Given the description of an element on the screen output the (x, y) to click on. 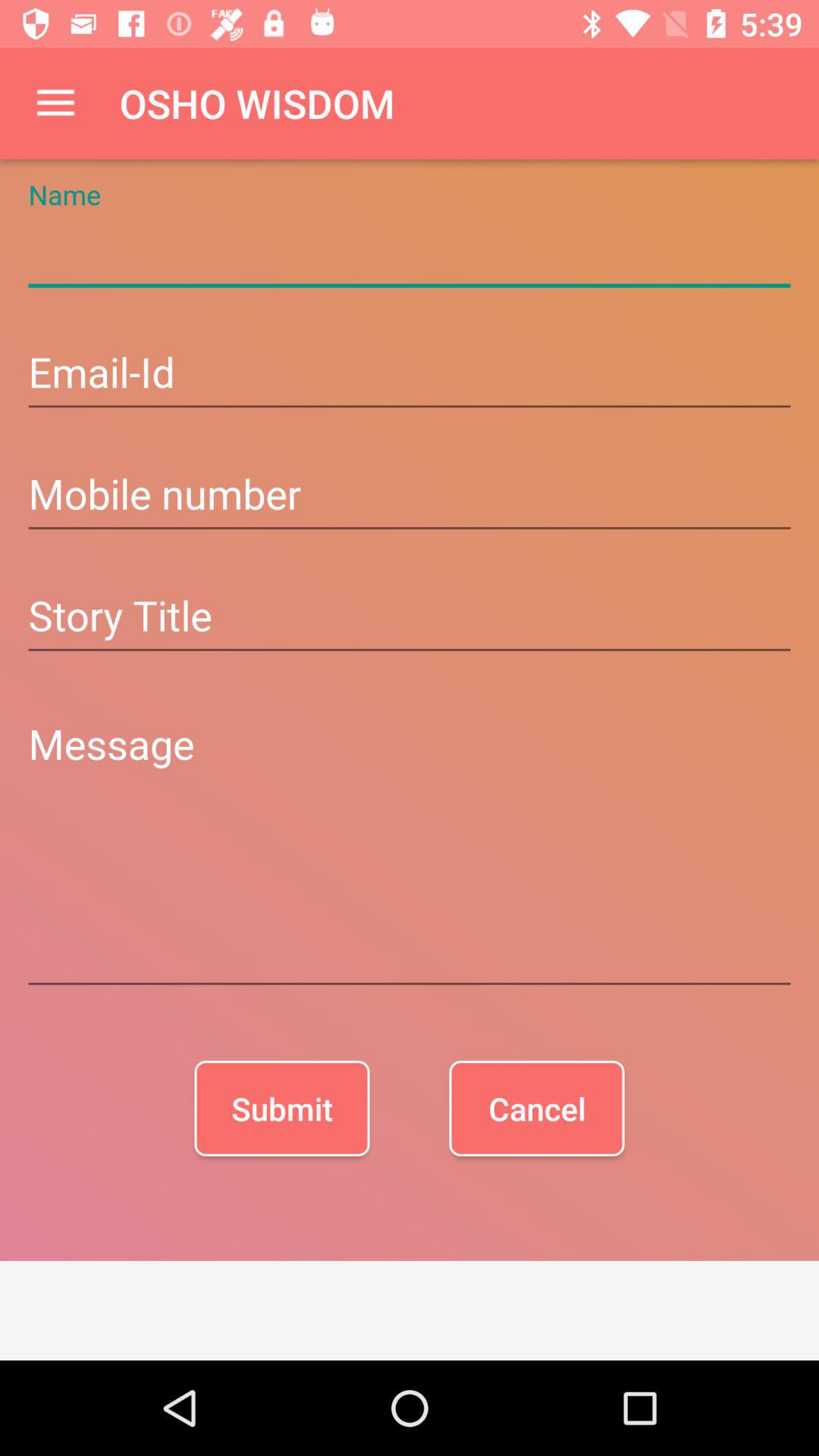
write your email (409, 374)
